Given the description of an element on the screen output the (x, y) to click on. 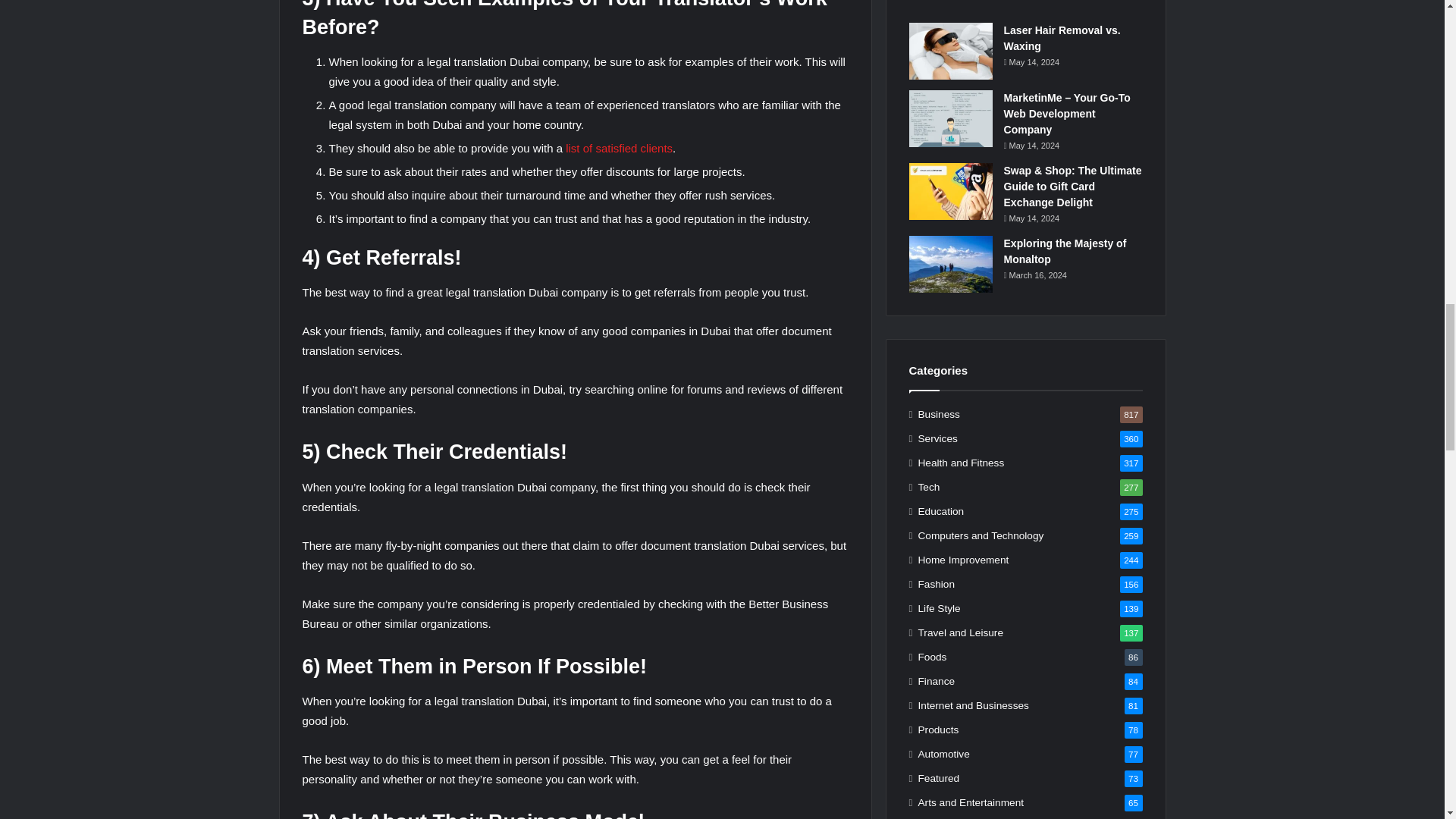
list of satisfied clients (619, 147)
